Given the description of an element on the screen output the (x, y) to click on. 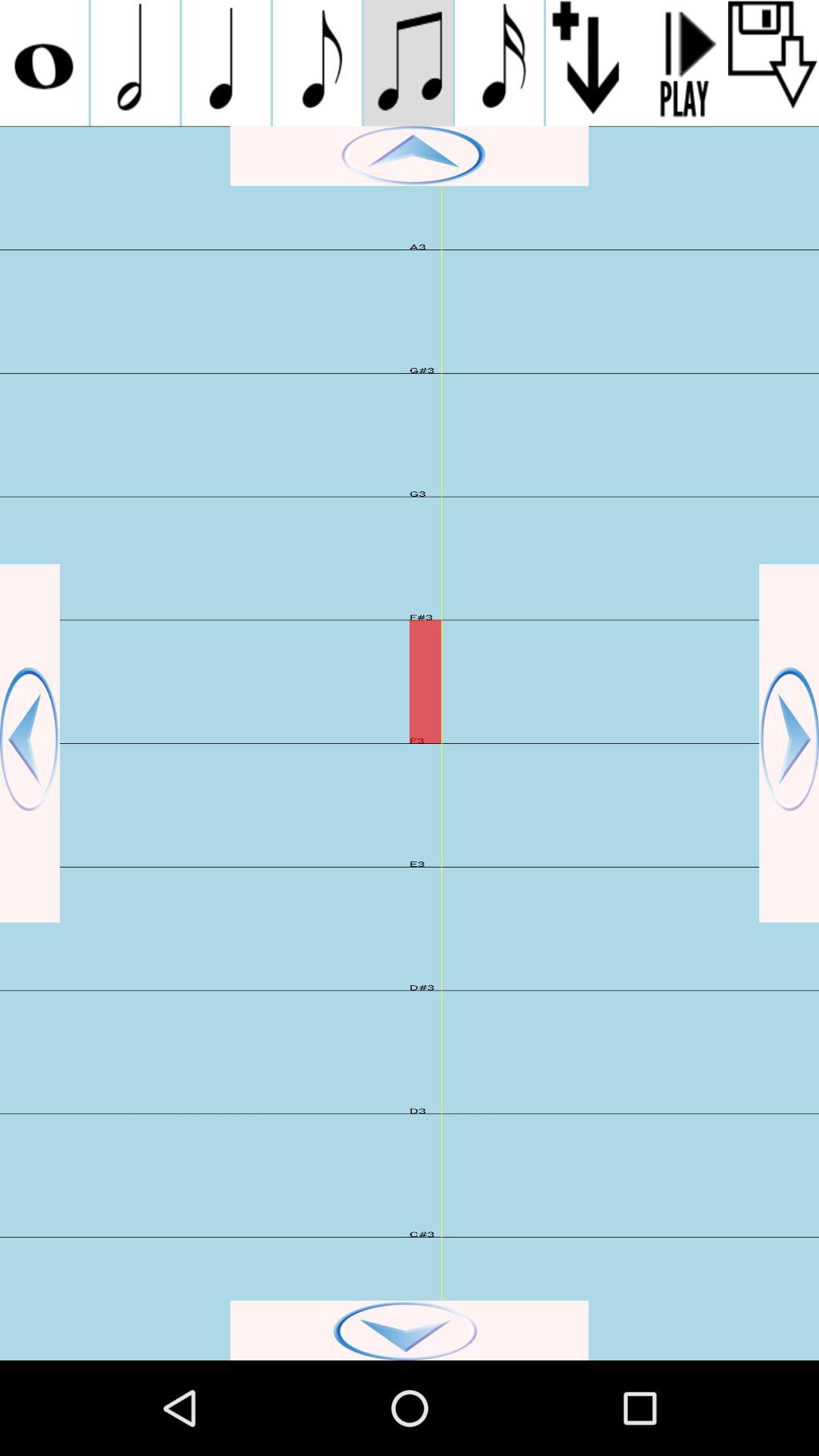
move screen view left (29, 742)
